Given the description of an element on the screen output the (x, y) to click on. 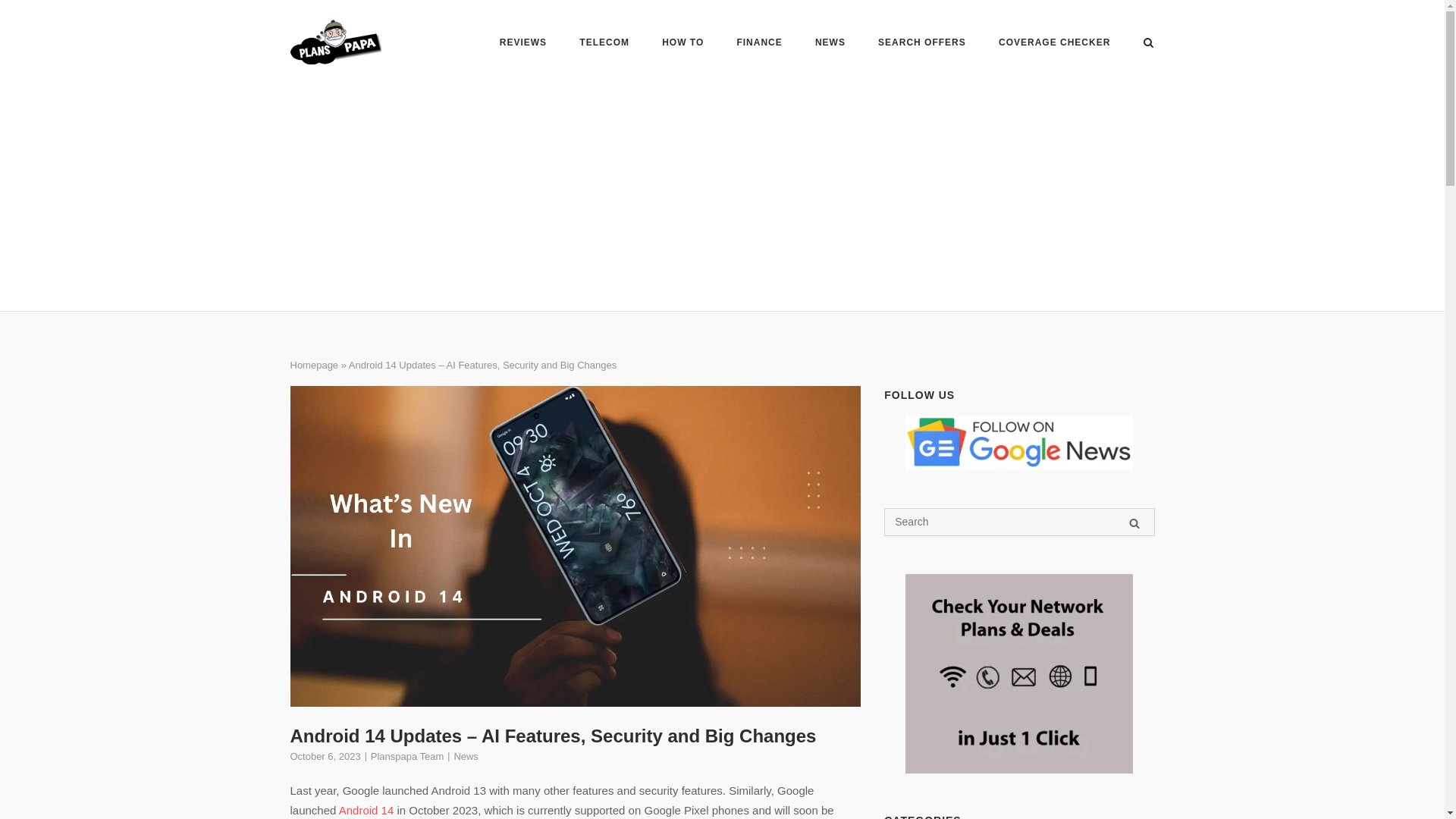
Android 14 (366, 809)
Homepage (313, 365)
Planspapa Team (407, 756)
FINANCE (758, 43)
REVIEWS (523, 43)
NEWS (830, 43)
SEARCH OFFERS (921, 43)
COVERAGE CHECKER (1053, 43)
TELECOM (603, 43)
